Given the description of an element on the screen output the (x, y) to click on. 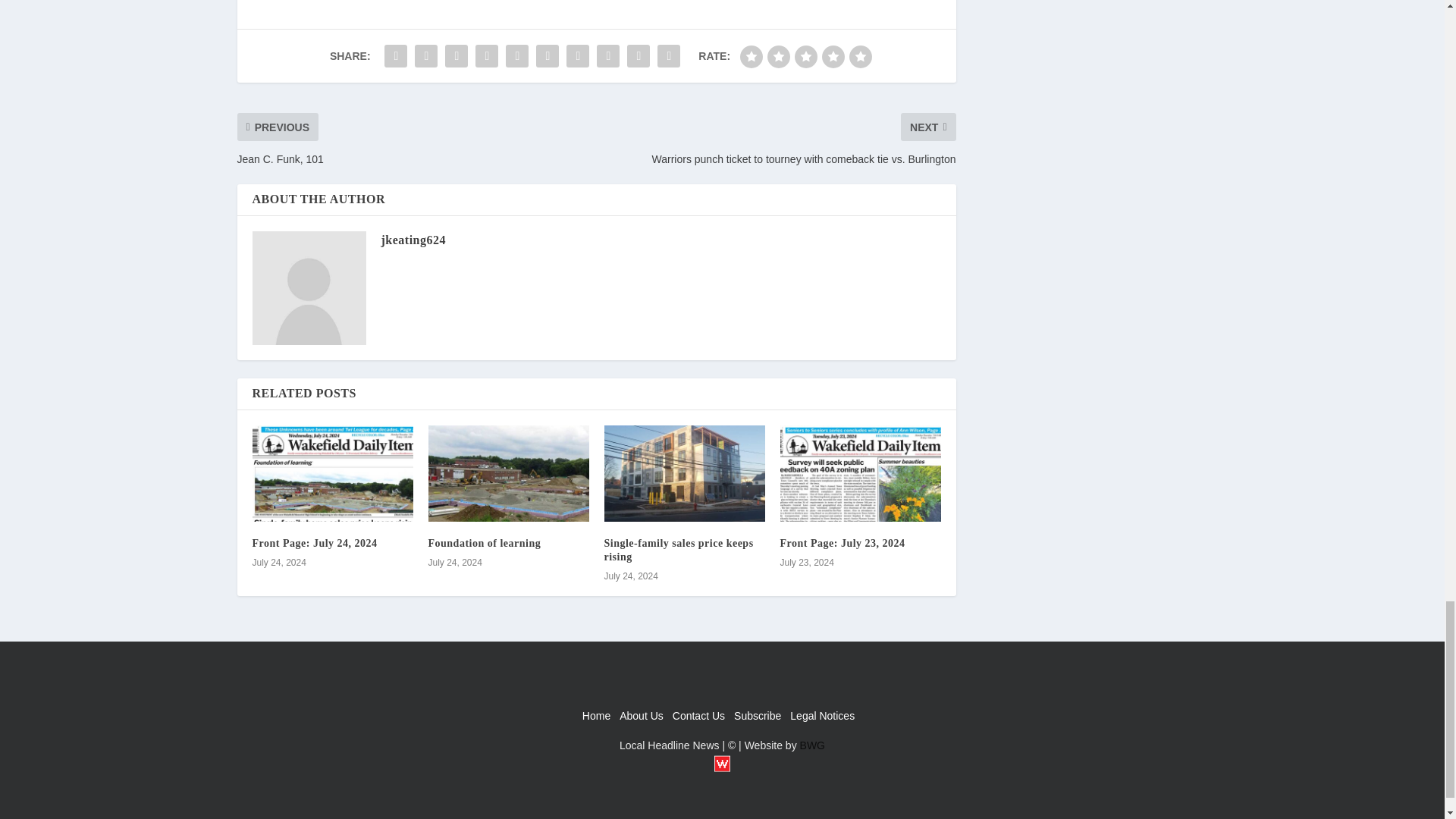
Share "Taxes rising, but it could be worse" via Twitter (425, 55)
Front Page: July 23, 2024 (841, 542)
Share "Taxes rising, but it could be worse" via Tumblr (486, 55)
Share "Taxes rising, but it could be worse" via Facebook (395, 55)
Single-family sales price keeps rising (678, 549)
Share "Taxes rising, but it could be worse" via Pinterest (517, 55)
Foundation of learning (484, 542)
jkeating624 (412, 239)
Front Page: July 24, 2024 (314, 542)
